Given the description of an element on the screen output the (x, y) to click on. 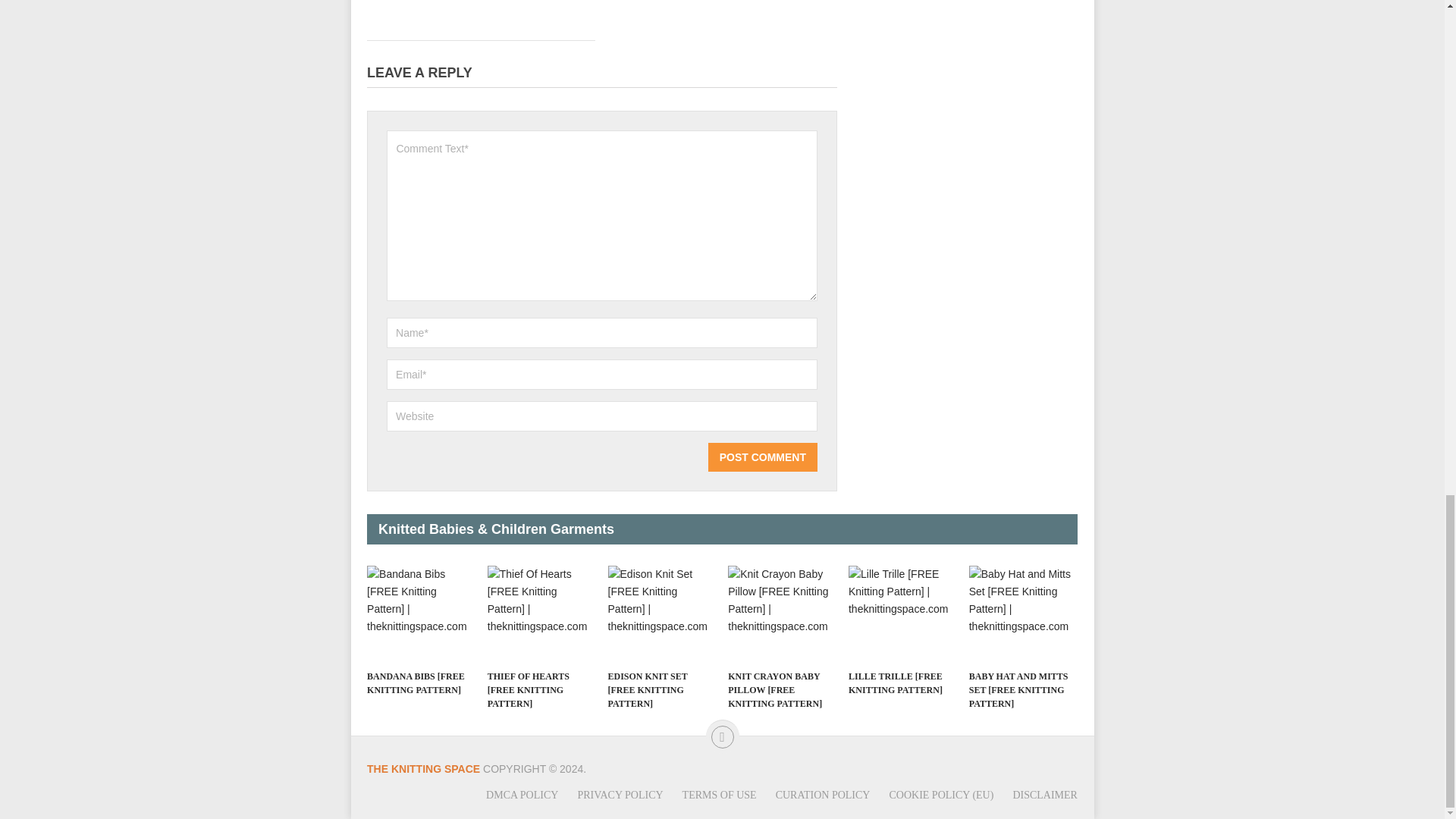
Post Comment (761, 457)
Post Comment (761, 457)
